Given the description of an element on the screen output the (x, y) to click on. 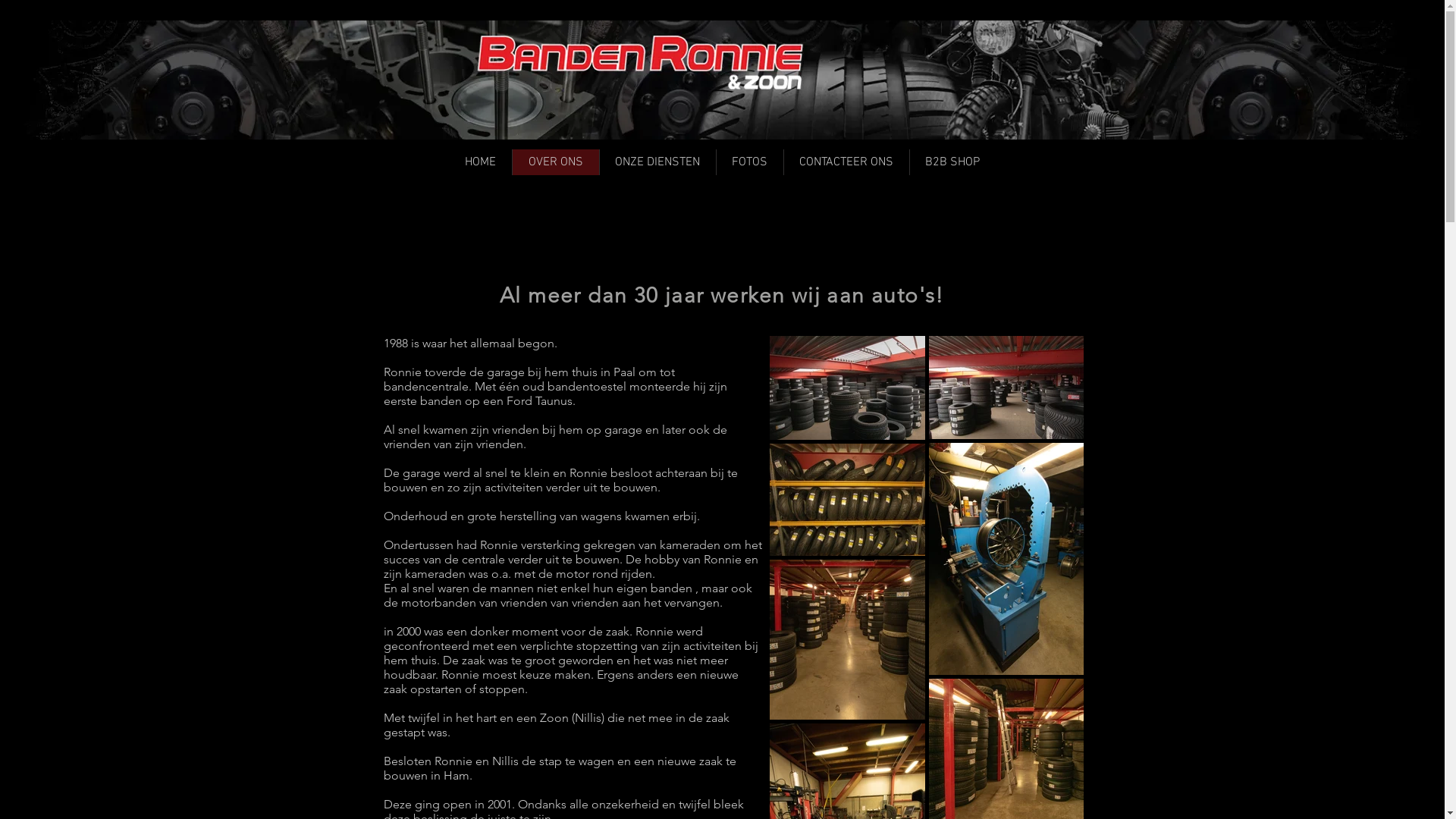
ONZE DIENSTEN Element type: text (657, 162)
CONTACTEER ONS Element type: text (845, 162)
B2B SHOP Element type: text (951, 162)
HOME Element type: text (479, 162)
FOTOS Element type: text (749, 162)
OVER ONS Element type: text (554, 162)
